Given the description of an element on the screen output the (x, y) to click on. 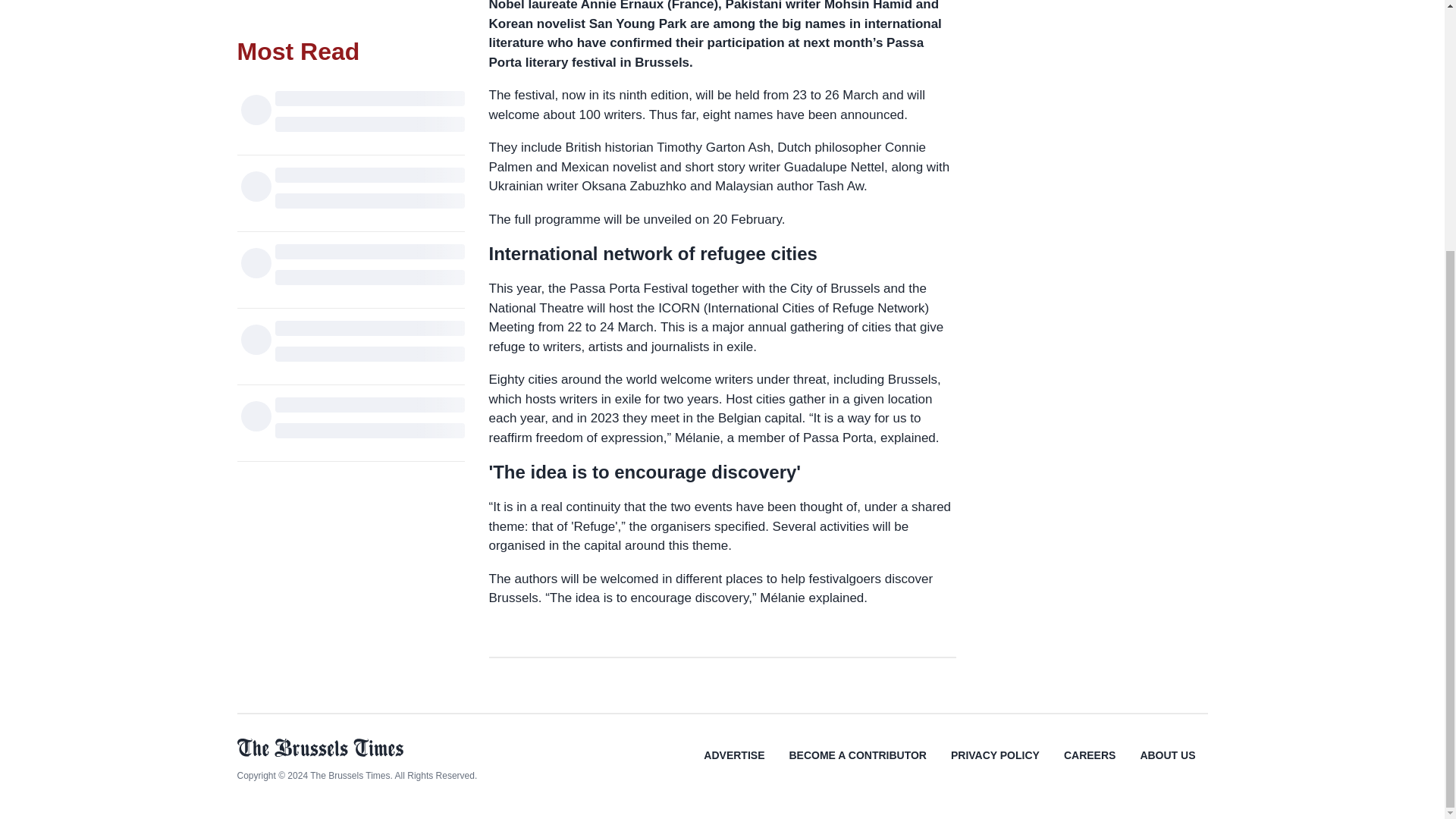
PRIVACY POLICY (995, 766)
ABOUT US (1166, 766)
BECOME A CONTRIBUTOR (856, 766)
ADVERTISE (733, 766)
CAREERS (1088, 766)
